Given the description of an element on the screen output the (x, y) to click on. 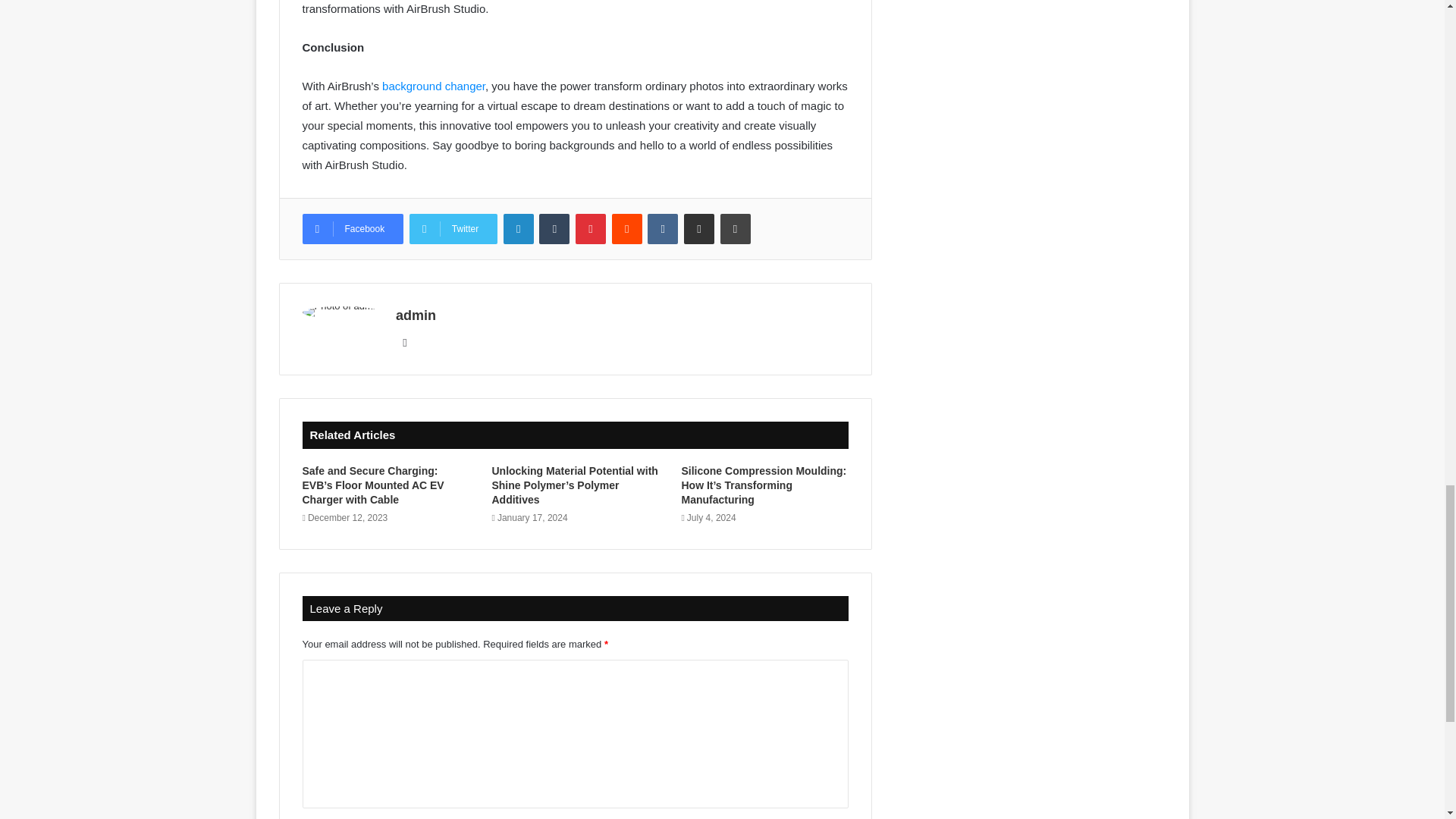
Pinterest (590, 228)
Share via Email (699, 228)
background changer (432, 85)
Twitter (453, 228)
LinkedIn (518, 228)
VKontakte (662, 228)
Print (735, 228)
Tumblr (553, 228)
Reddit (626, 228)
VKontakte (662, 228)
admin (415, 314)
Website (404, 342)
LinkedIn (518, 228)
Tumblr (553, 228)
Reddit (626, 228)
